Given the description of an element on the screen output the (x, y) to click on. 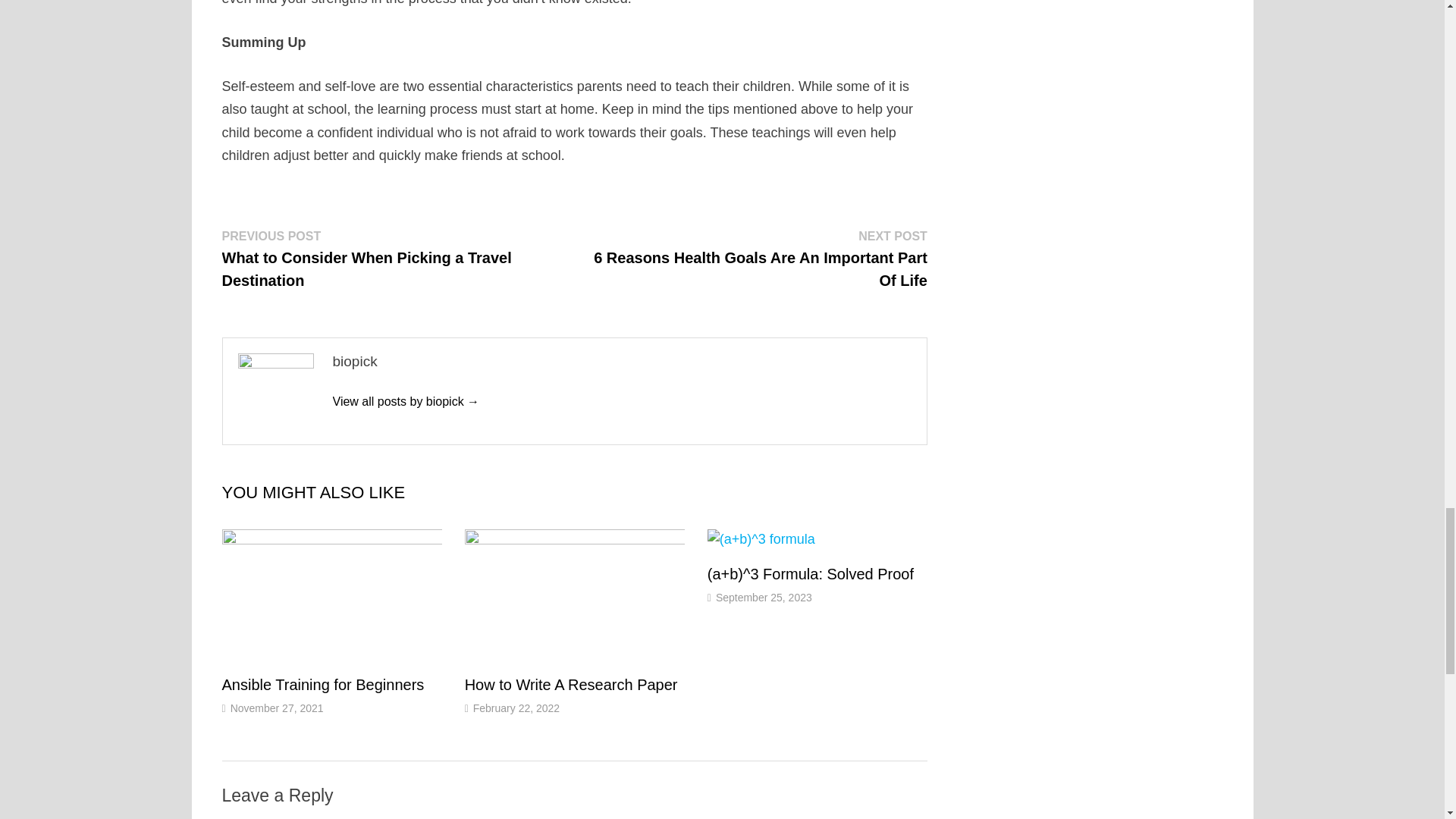
biopick (405, 400)
How to Write A Research Paper (571, 684)
Ansible Training for Beginners (322, 684)
